Given the description of an element on the screen output the (x, y) to click on. 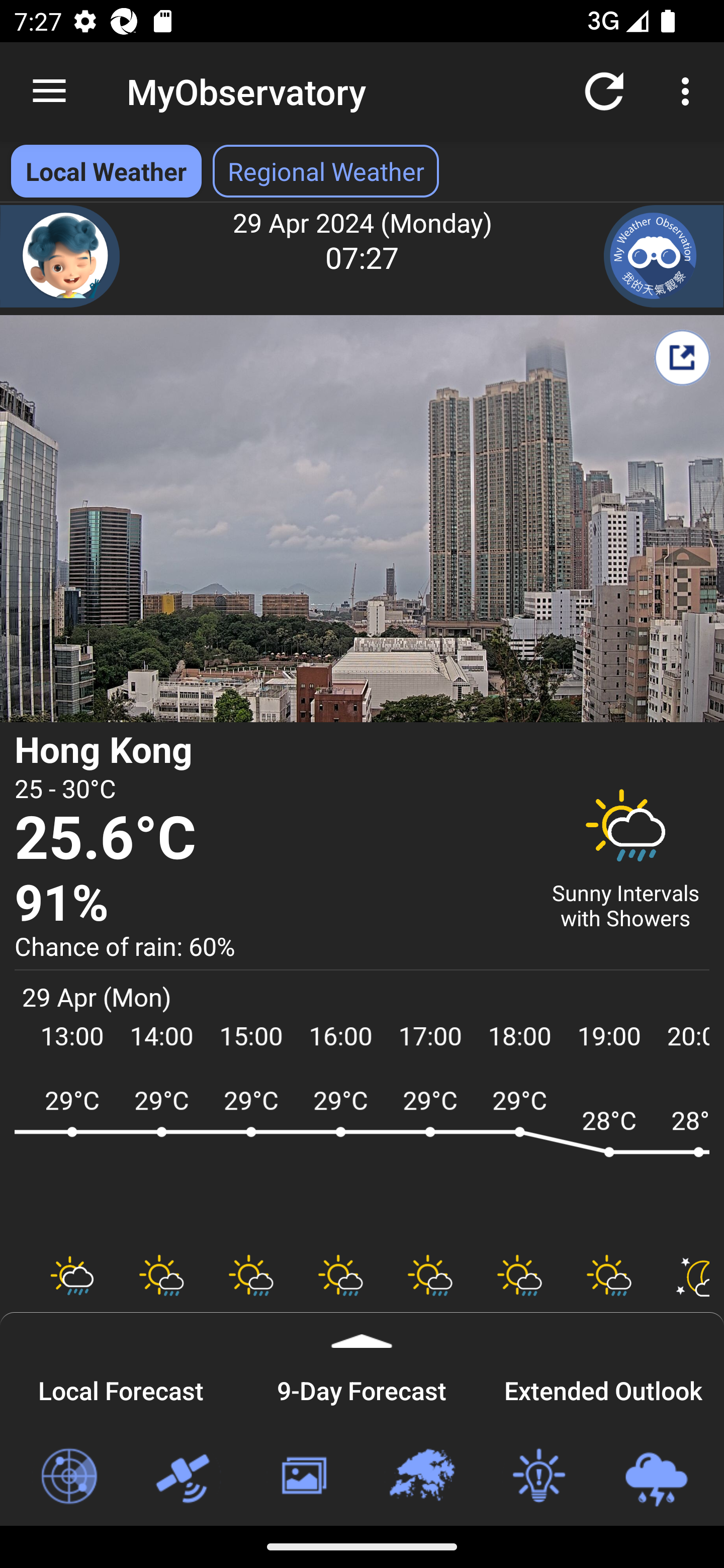
Navigate up (49, 91)
Refresh (604, 90)
More options (688, 90)
Local Weather Local Weather selected (105, 170)
Regional Weather Select Regional Weather (325, 170)
Chatbot (60, 256)
My Weather Observation (663, 256)
Share My Weather Report (681, 357)
25.6°C Temperature
25.6 degree Celsius (270, 839)
91% Relative Humidity
91 percent (270, 903)
ARWF (361, 1160)
Expand (362, 1330)
Local Forecast (120, 1387)
Extended Outlook (603, 1387)
Radar Images (68, 1476)
Satellite Images (185, 1476)
Weather Photos (302, 1476)
Regional Weather (420, 1476)
Weather Tips (537, 1476)
Loc-based Rain & Lightning Forecast (655, 1476)
